Given the description of an element on the screen output the (x, y) to click on. 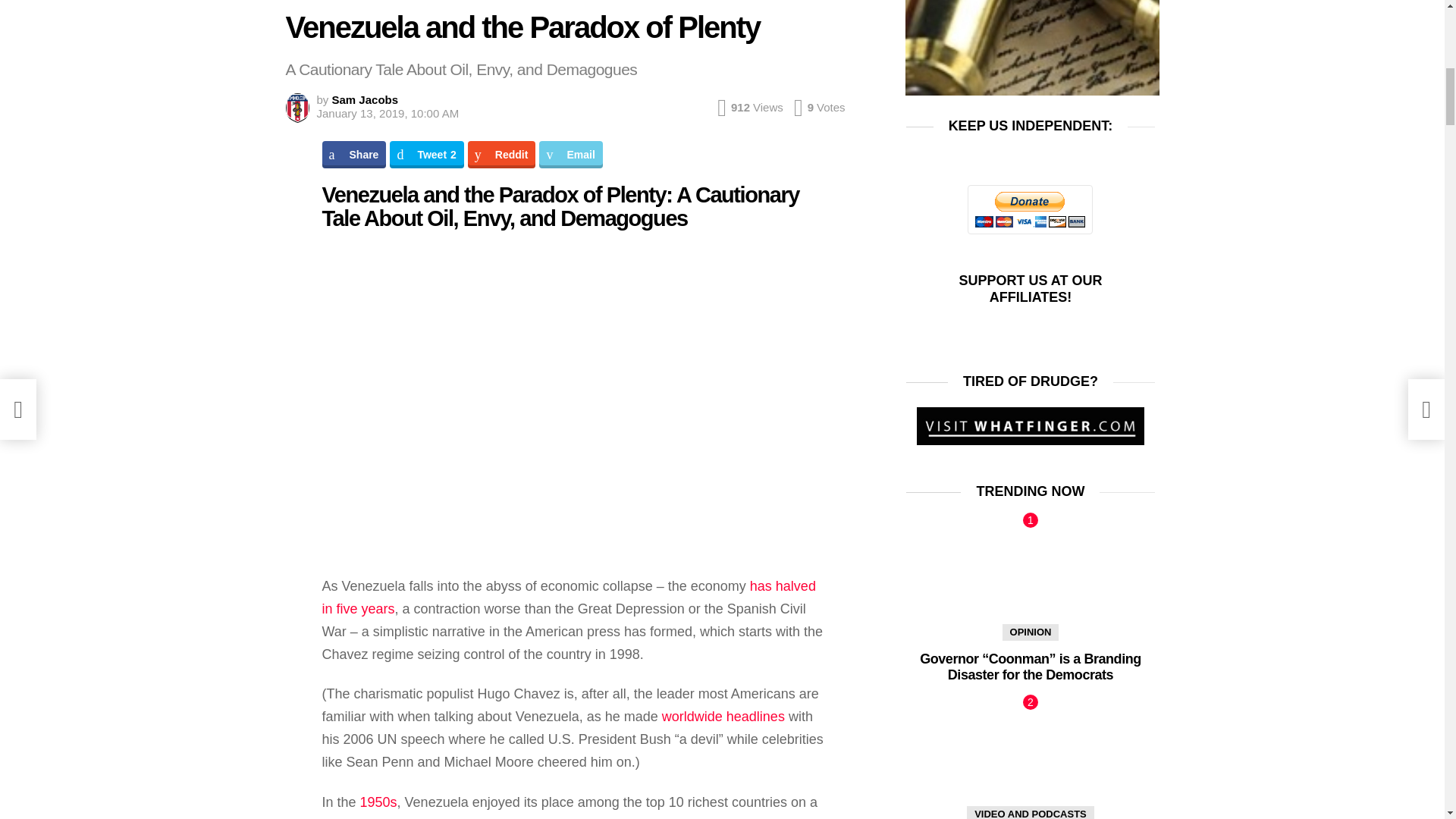
how Chavez made worldwide headlines (723, 716)
how the Venezuela economy has halved (568, 597)
Posts by Sam Jacobs (364, 99)
